Given the description of an element on the screen output the (x, y) to click on. 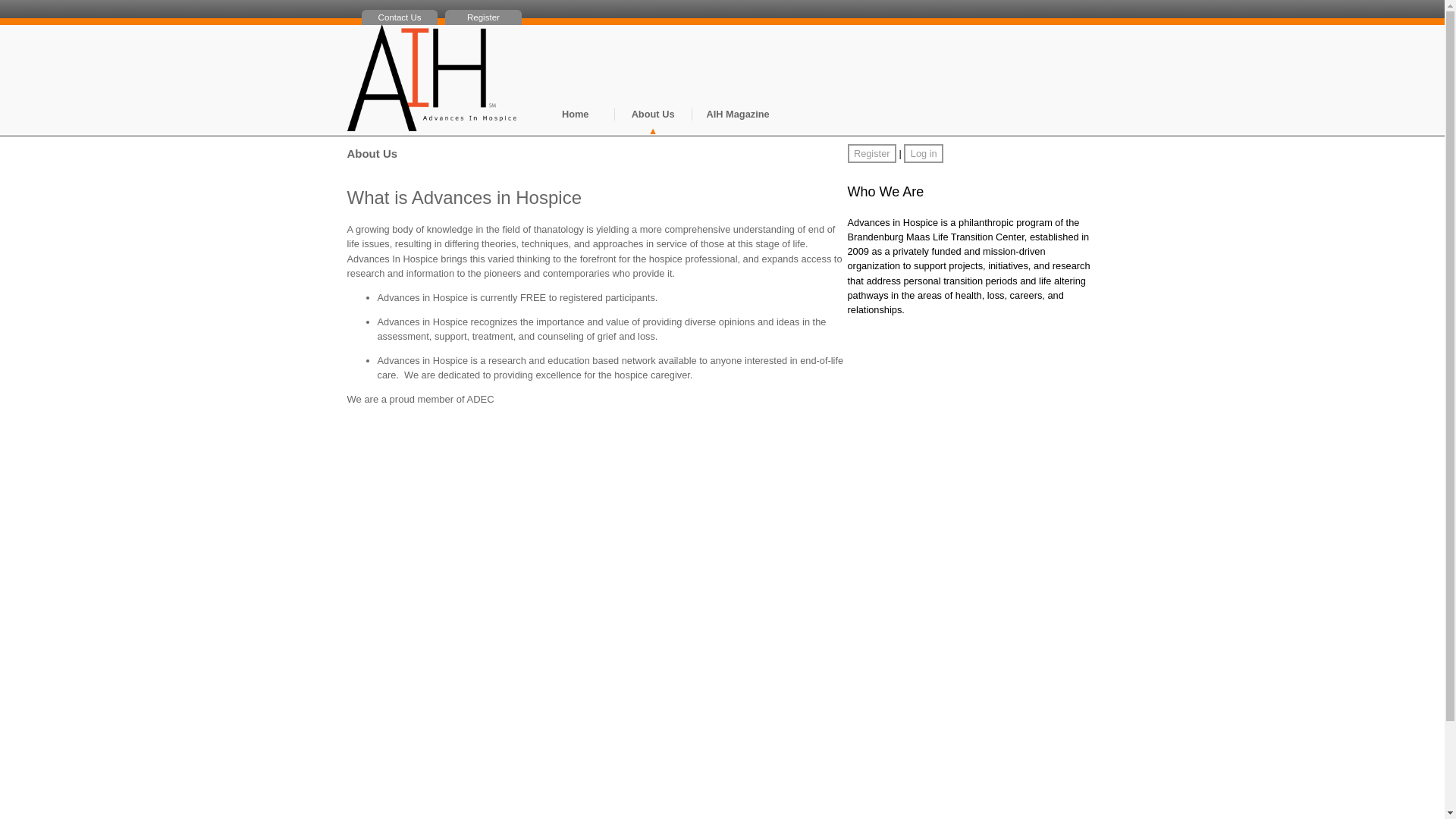
About Us (652, 121)
AIH Magazine (737, 121)
Home (575, 121)
Register (871, 153)
Log in (923, 153)
Contact Us (399, 17)
Register (483, 17)
